Given the description of an element on the screen output the (x, y) to click on. 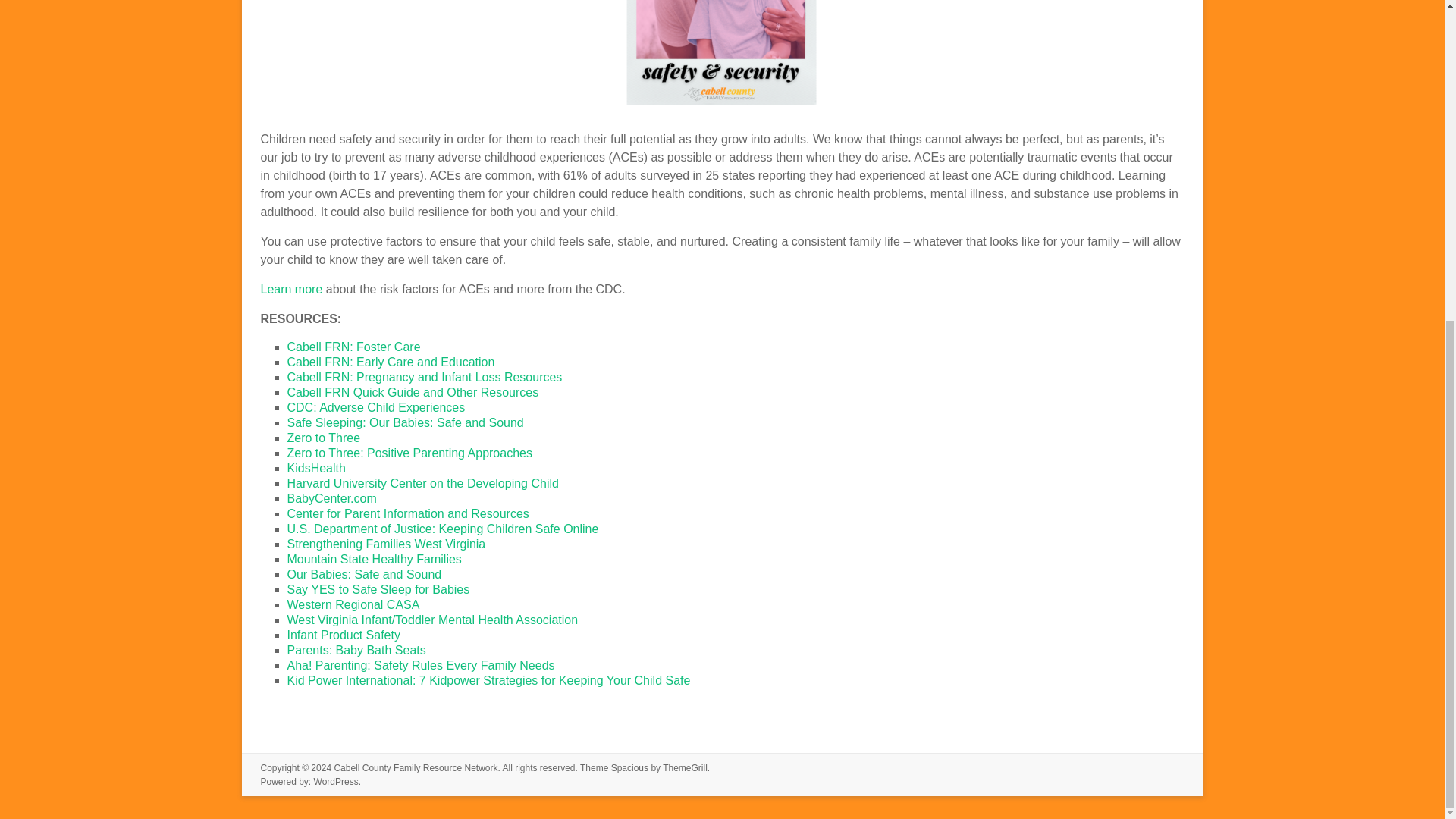
Cabell FRN: Early Care and Education (390, 361)
CDC: Adverse Child Experiences (375, 407)
Zero to Three: Positive Parenting Approaches (408, 452)
Cabell FRN Quick Guide and Other Resources  (413, 391)
Safe Sleeping: Our Babies: Safe and Sound (404, 422)
Learn more (291, 288)
Cabell County Family Resource Network (415, 767)
WordPress (336, 781)
Cabell FRN: Foster Care (353, 346)
Cabell FRN: Pregnancy and Infant Loss Resources (424, 377)
Spacious (629, 767)
KidsHealth (315, 468)
Zero to Three (322, 437)
